Given the description of an element on the screen output the (x, y) to click on. 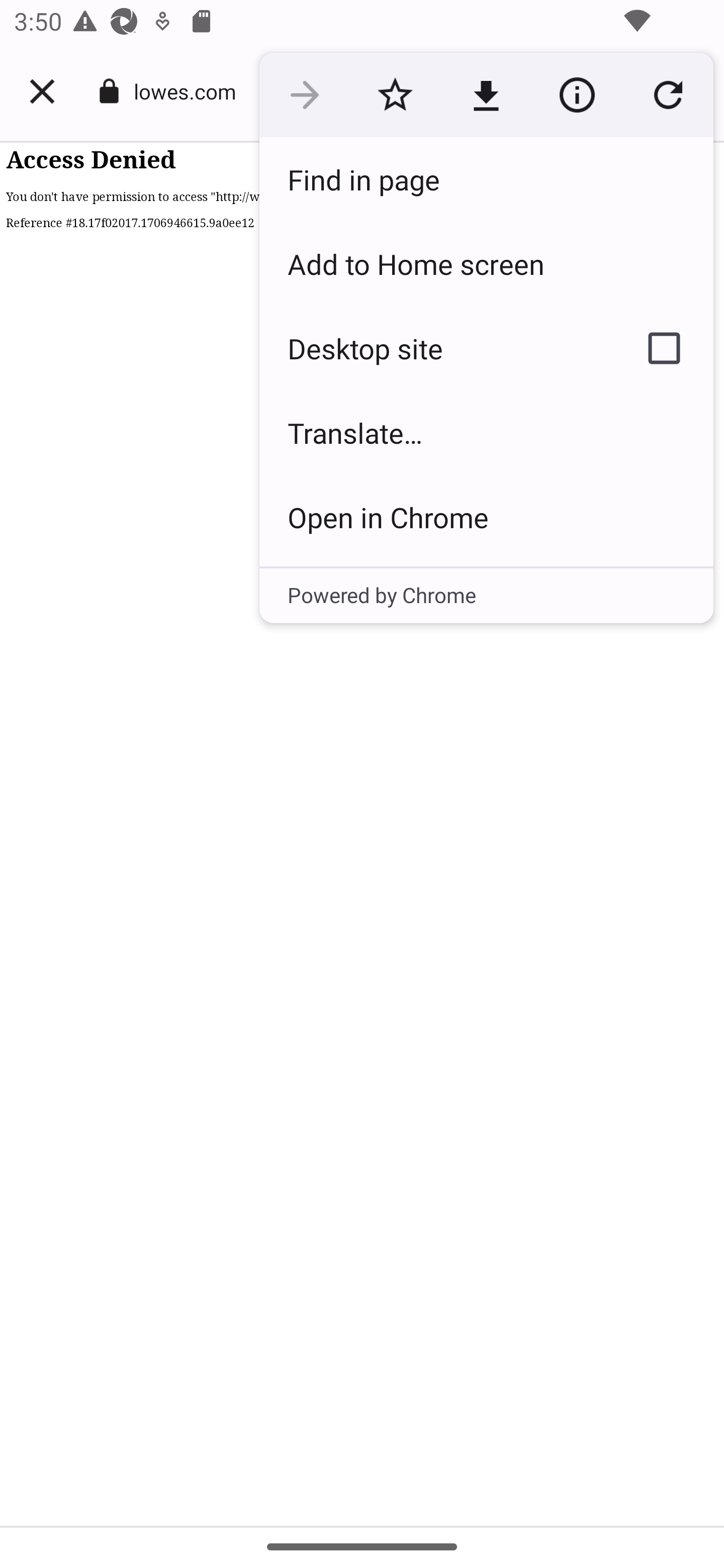
Go forward (304, 95)
Bookmark (394, 95)
Download page (485, 95)
View site information (576, 95)
Refresh (667, 95)
Find in page (486, 179)
Add to Home screen (486, 263)
Desktop site Turn on Request desktop site (436, 347)
Translate… (486, 432)
Open in Chrome (486, 517)
